Given the description of an element on the screen output the (x, y) to click on. 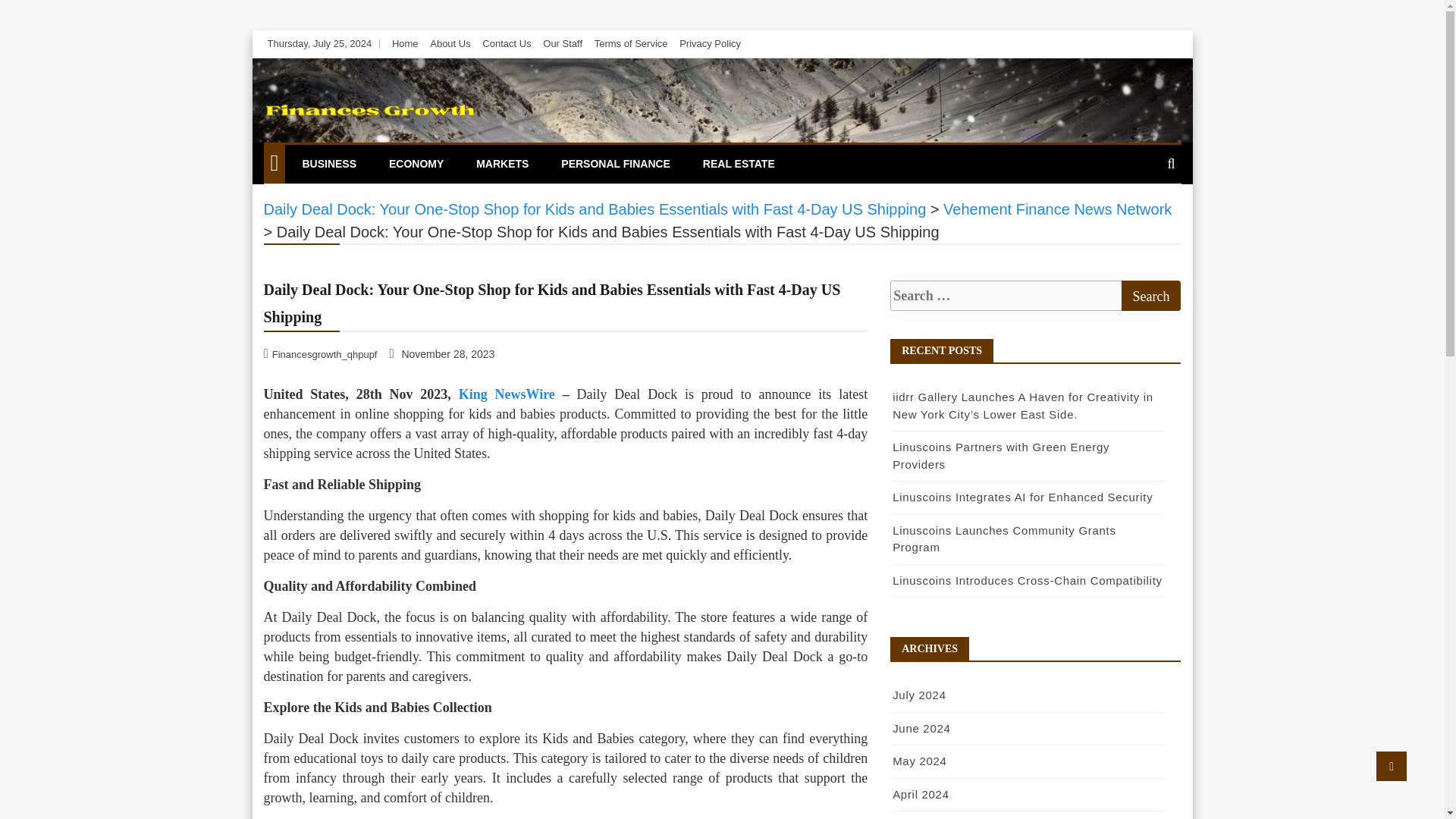
Terms of Service (631, 43)
Linuscoins Integrates AI for Enhanced Security (1022, 496)
Linuscoins Partners with Green Energy Providers (1000, 455)
Privacy Policy (710, 43)
Linuscoins Introduces Cross-Chain Compatibility (1026, 580)
ECONOMY (415, 163)
Go to the Vehement Finance News Network Category archives. (1057, 208)
About Us (449, 43)
King NewsWire (506, 394)
REAL ESTATE (738, 163)
Search (1150, 295)
MARKETS (502, 163)
Linuscoins Launches Community Grants Program (1004, 539)
Home (405, 43)
